Given the description of an element on the screen output the (x, y) to click on. 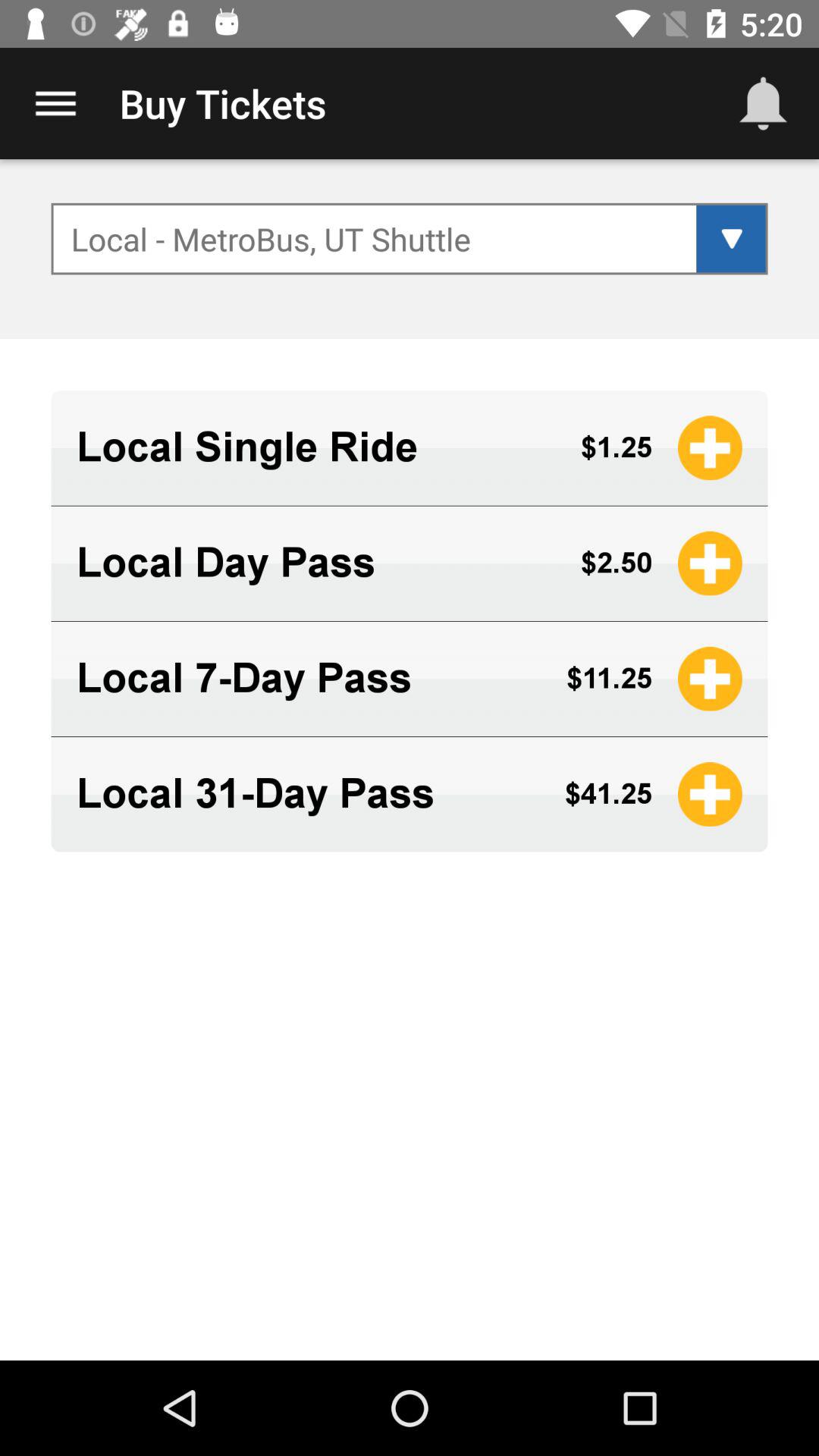
select the item to the left of the $1.25 icon (315, 447)
